Given the description of an element on the screen output the (x, y) to click on. 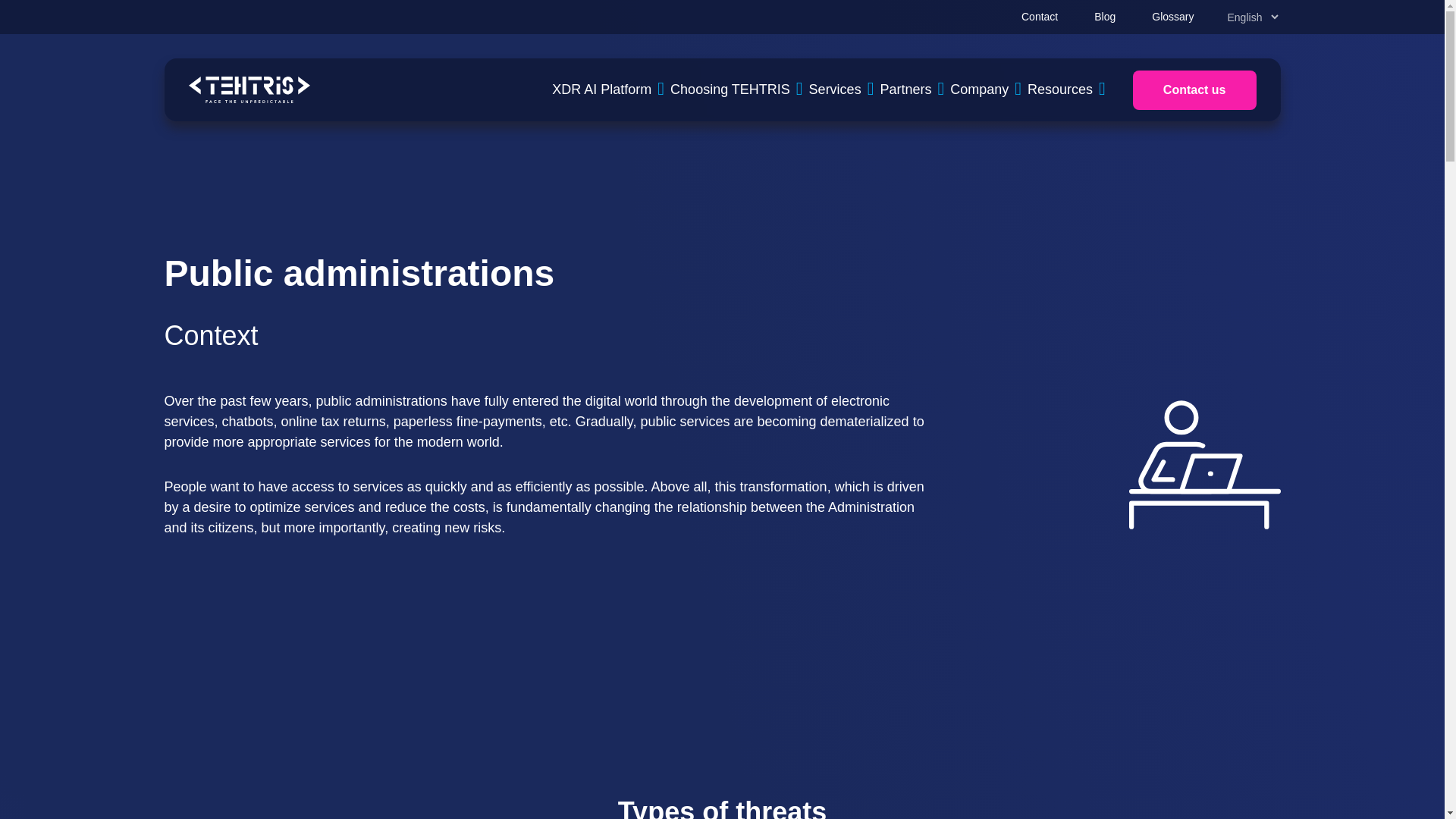
XDR AI Platform (610, 89)
Glossary (1172, 16)
Services (844, 89)
Choosing TEHTRIS (739, 89)
Blog (1104, 16)
Contact (1040, 16)
